Given the description of an element on the screen output the (x, y) to click on. 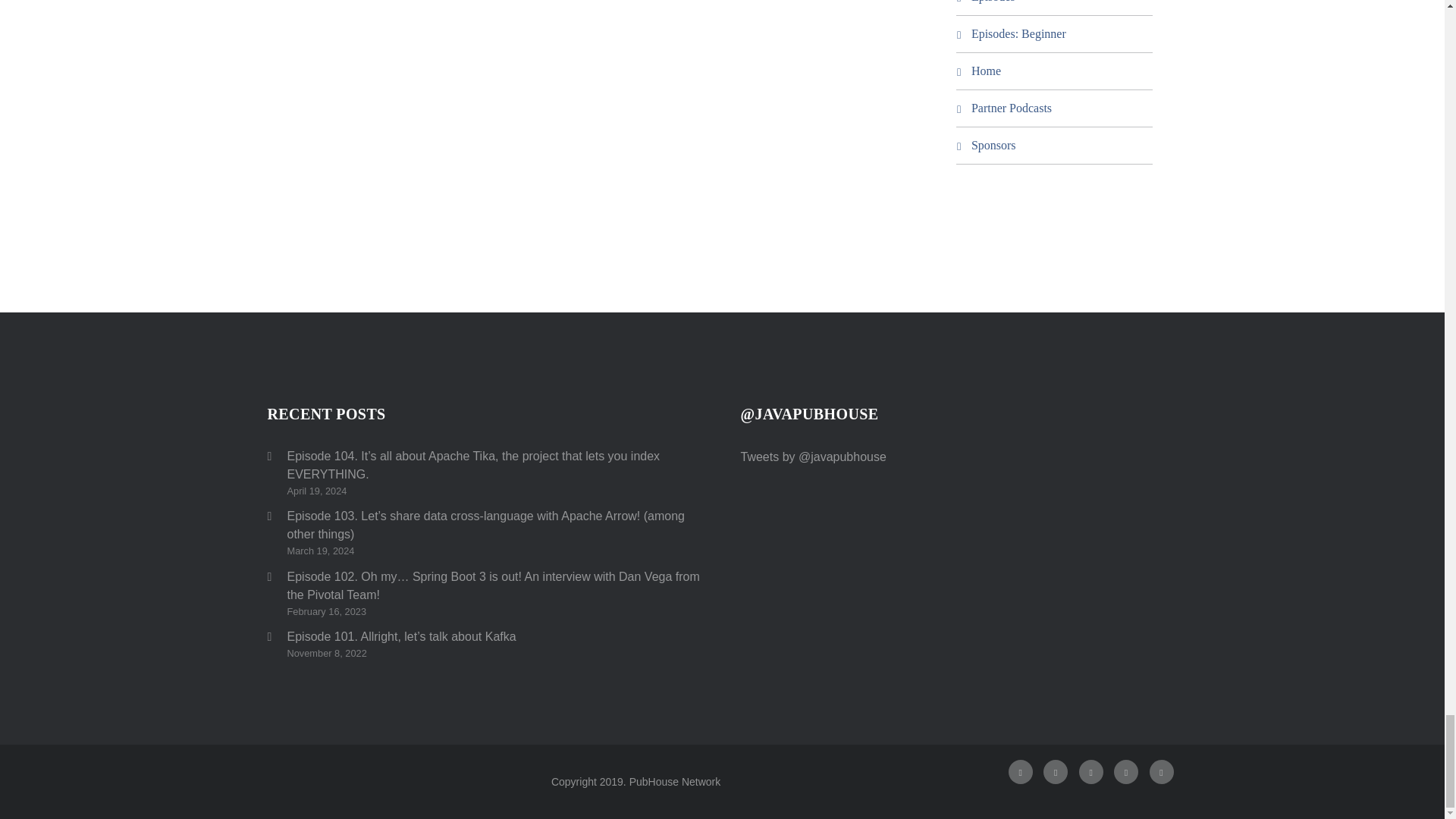
Podcast (1125, 771)
Spotify (1055, 771)
Email (1161, 771)
Twitter (1020, 771)
RSS (1090, 771)
